Given the description of an element on the screen output the (x, y) to click on. 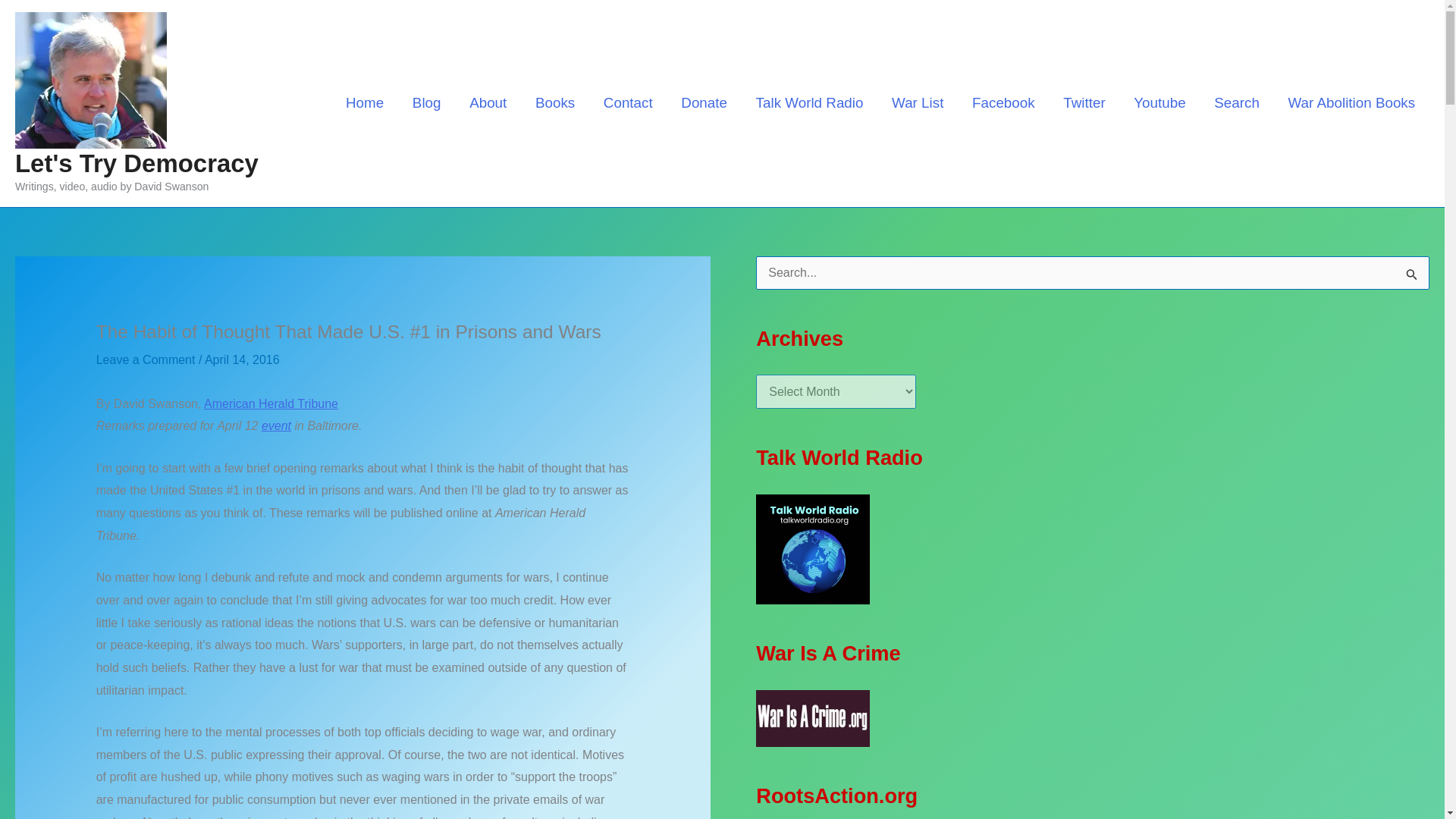
War Abolition Books (1351, 102)
American Herald Tribune (270, 403)
Donate (703, 102)
Talk World Radio (809, 102)
Home (364, 102)
Blog (425, 102)
War List (917, 102)
Let's Try Democracy (136, 163)
Search (1235, 102)
Books (555, 102)
